Given the description of an element on the screen output the (x, y) to click on. 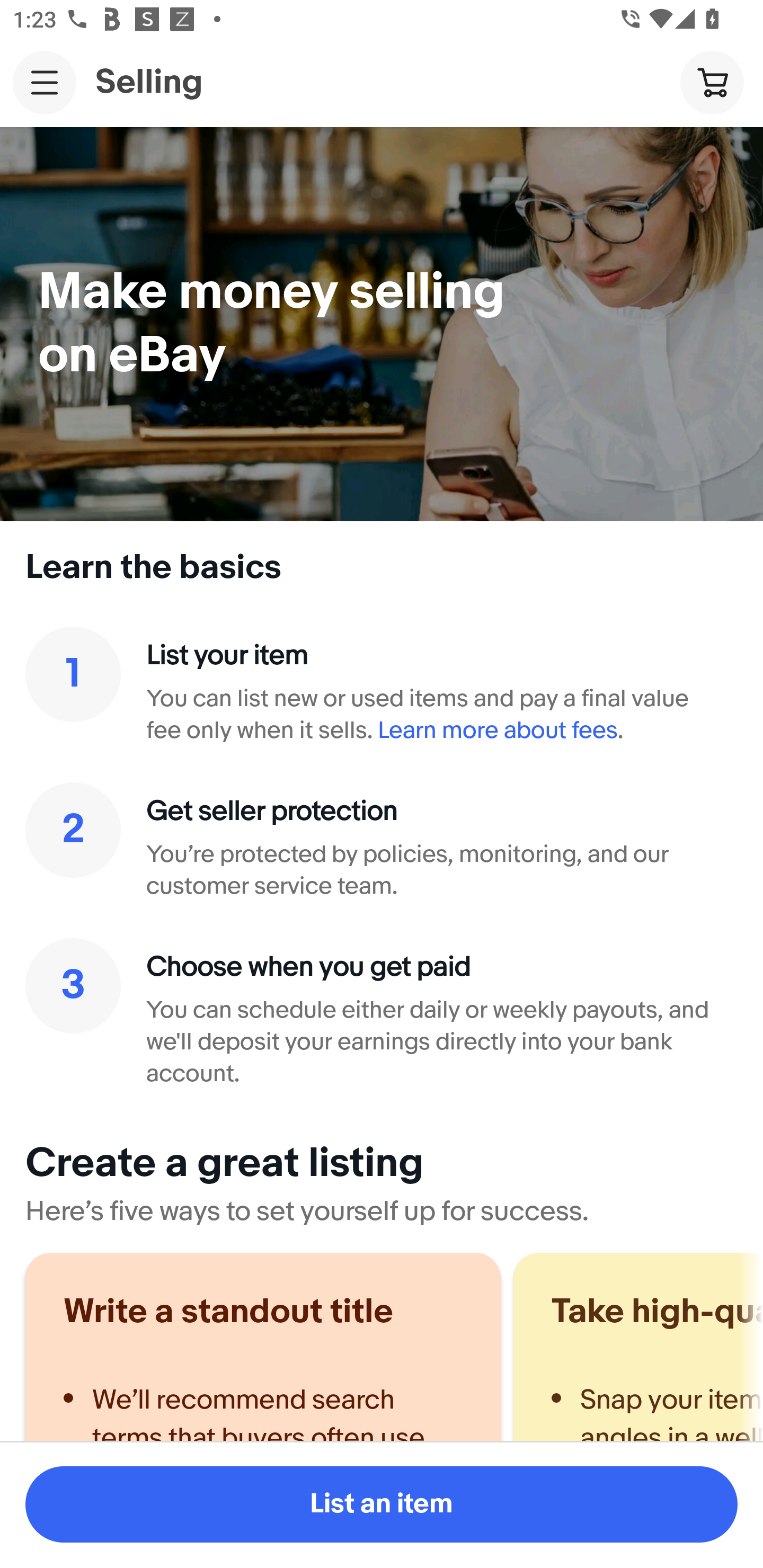
Main navigation, open (44, 82)
Cart button shopping cart (711, 81)
List an item (381, 1504)
